Given the description of an element on the screen output the (x, y) to click on. 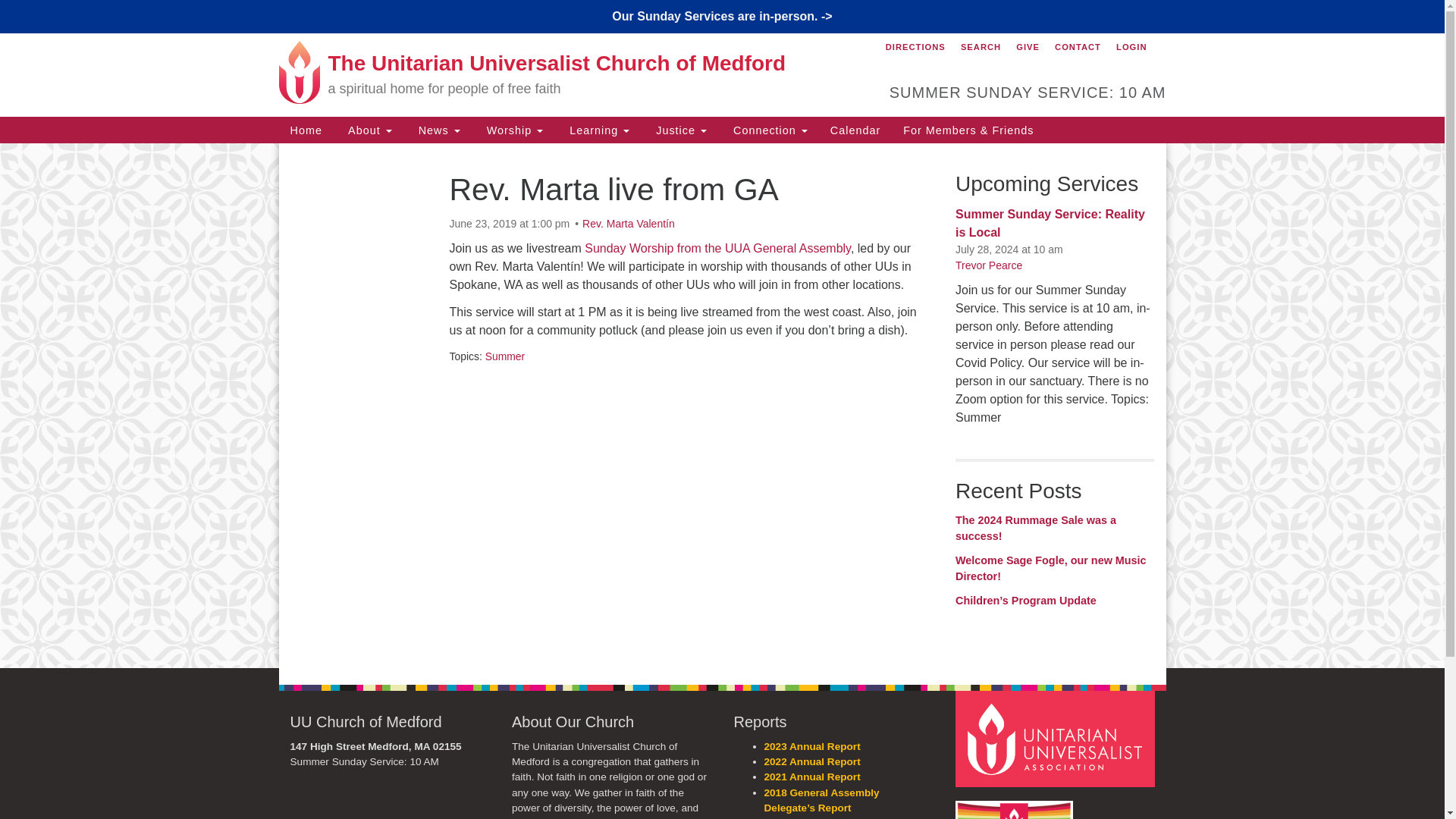
About (368, 130)
 Worship (512, 130)
 About (368, 130)
DIRECTIONS (915, 47)
GIVE (1027, 47)
 News (437, 130)
Home (306, 130)
CONTACT (1077, 47)
SEARCH (980, 47)
LOGIN (1130, 47)
Home (306, 130)
News (437, 130)
